Given the description of an element on the screen output the (x, y) to click on. 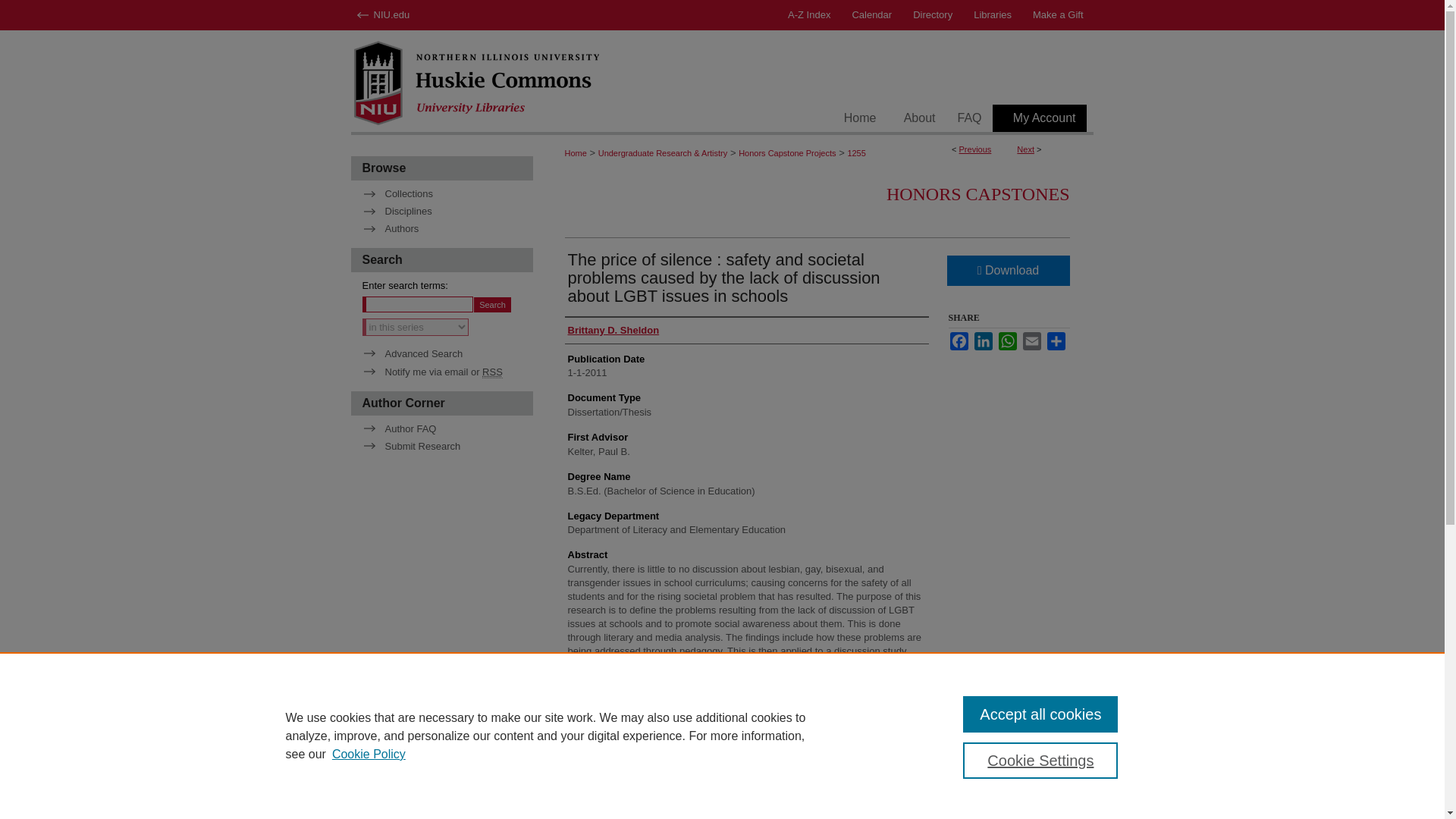
Calendar (871, 15)
LinkedIn (982, 341)
NIU Home (396, 15)
Libraries (992, 15)
Libraries (992, 15)
Huskie Commons (721, 82)
Home (859, 117)
A-Z Index (809, 15)
Share (1055, 341)
FAQ (968, 117)
1255 (855, 153)
HONORS CAPSTONES (978, 193)
NIU.edu (396, 15)
Search (492, 304)
Disciplines (447, 211)
